Given the description of an element on the screen output the (x, y) to click on. 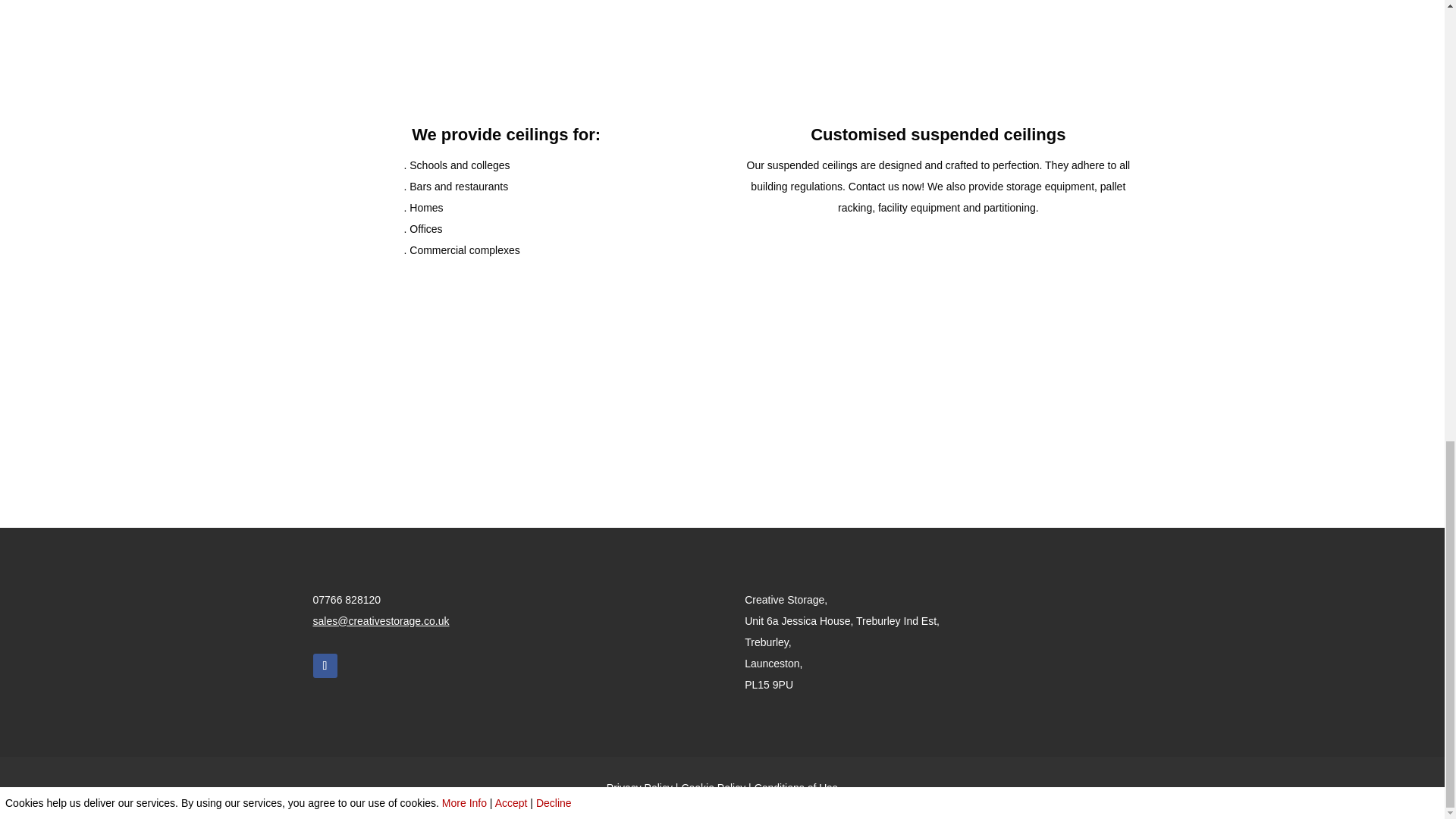
Conditions of Use (796, 787)
07766 828120 (346, 599)
Privacy Policy (639, 787)
01823 673 211 (721, 420)
Cookie Policy (713, 787)
Follow on Facebook (324, 665)
